Given the description of an element on the screen output the (x, y) to click on. 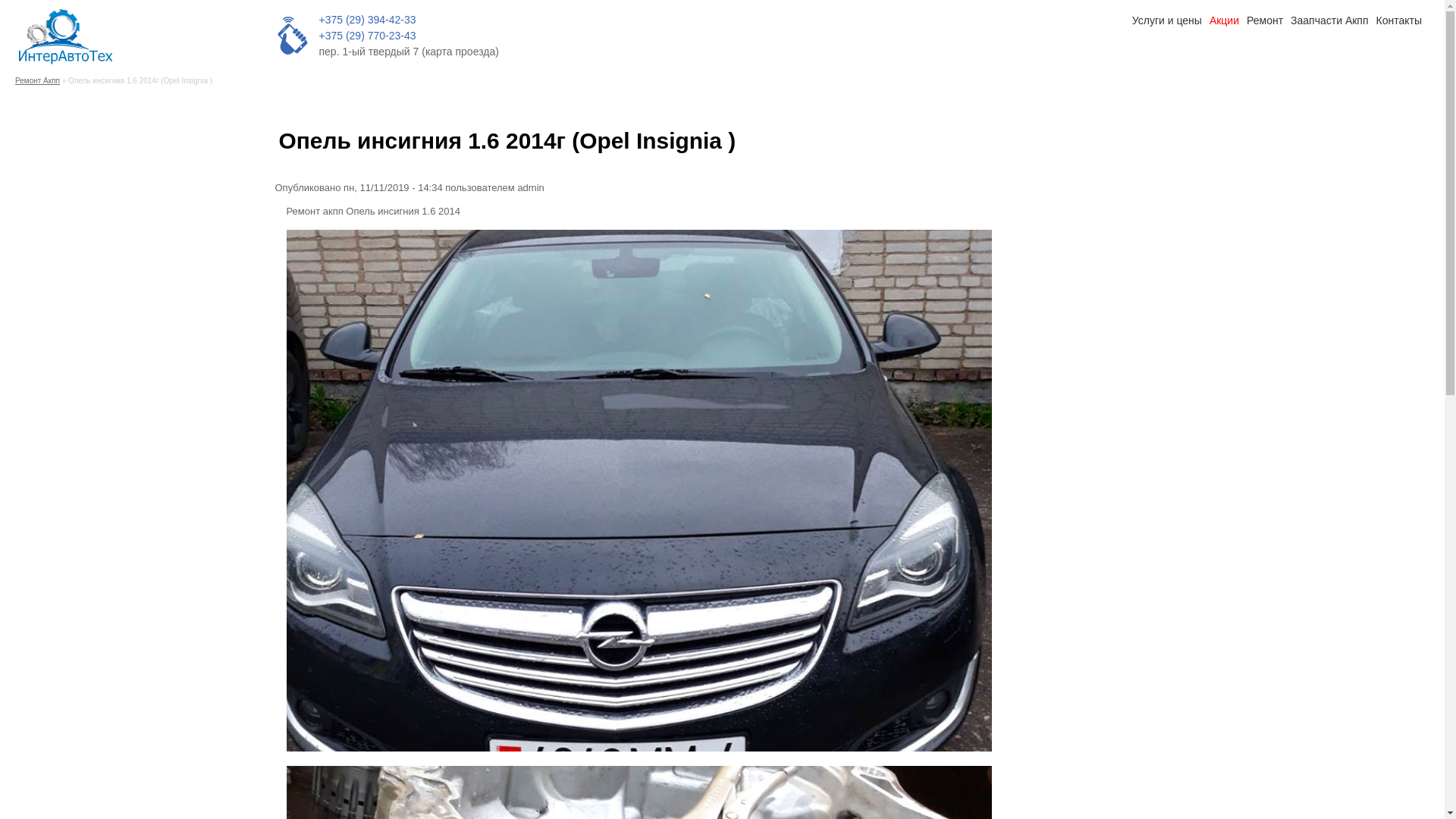
Back to top Element type: text (274, 125)
+375 (29) 770-23-43 Element type: text (366, 35)
+375 (29) 394-42-33 Element type: text (366, 19)
Jump to navigation Element type: text (0, 1)
